Given the description of an element on the screen output the (x, y) to click on. 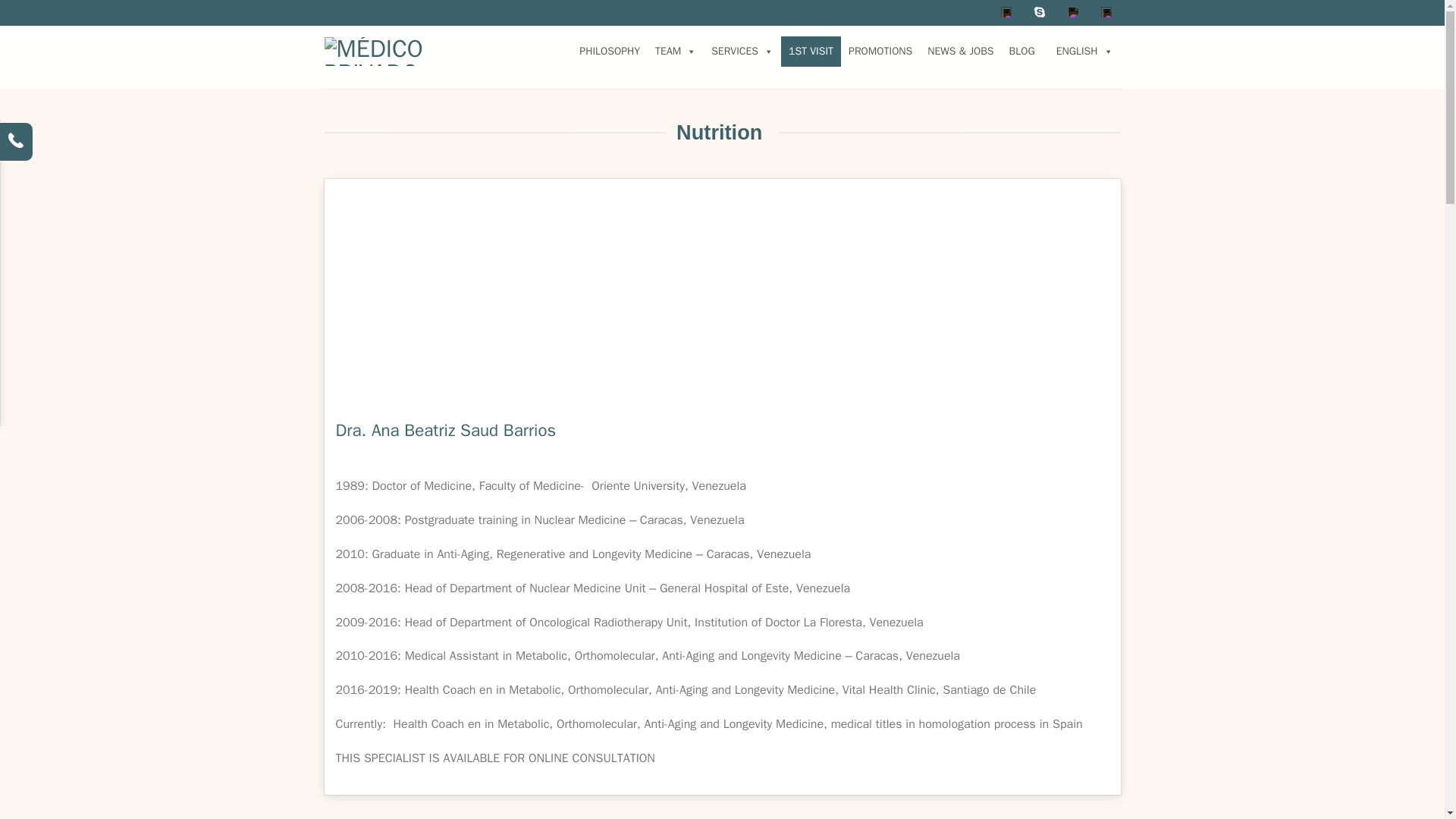
English (1081, 51)
TEAM (675, 51)
1ST VISIT (810, 51)
SERVICES (741, 51)
PHILOSOPHY (609, 51)
